Given the description of an element on the screen output the (x, y) to click on. 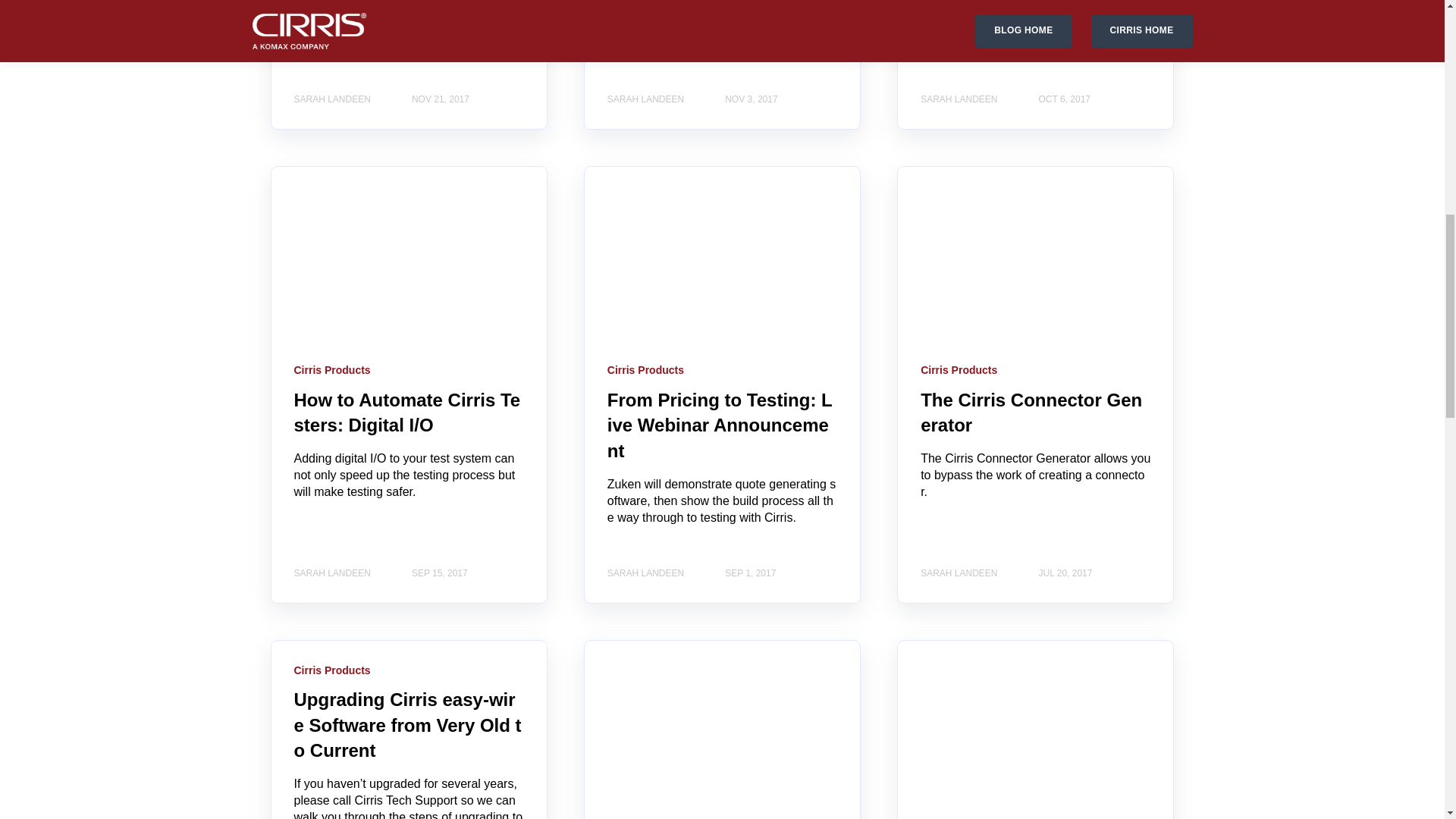
Upgrading Cirris easy-wire Software from Very Old to Current (407, 724)
The Cirris Connector Generator (1030, 412)
From Pricing to Testing: Live Webinar Announcement (719, 425)
